Given the description of an element on the screen output the (x, y) to click on. 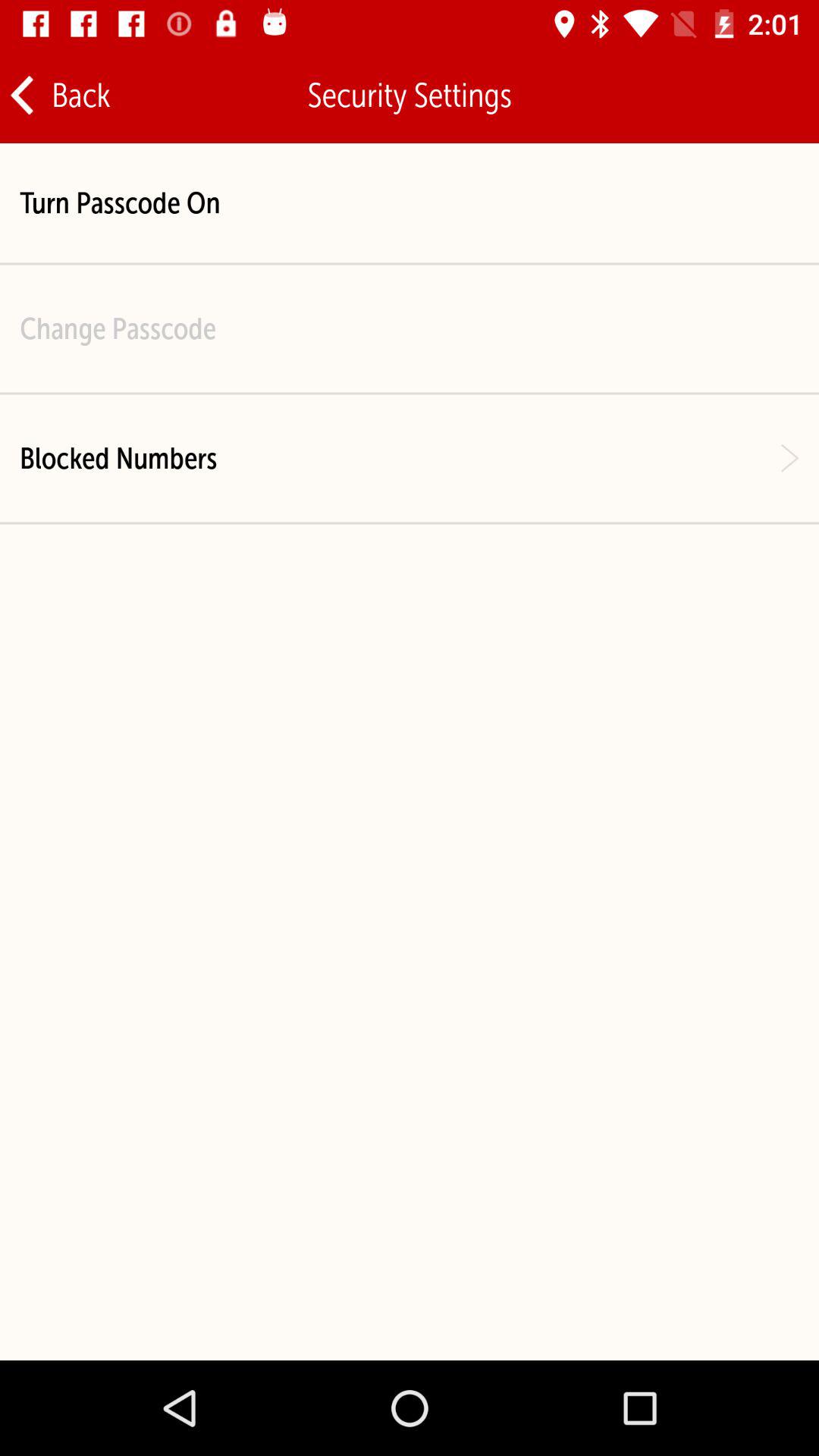
launch the item above turn passcode on (59, 95)
